Given the description of an element on the screen output the (x, y) to click on. 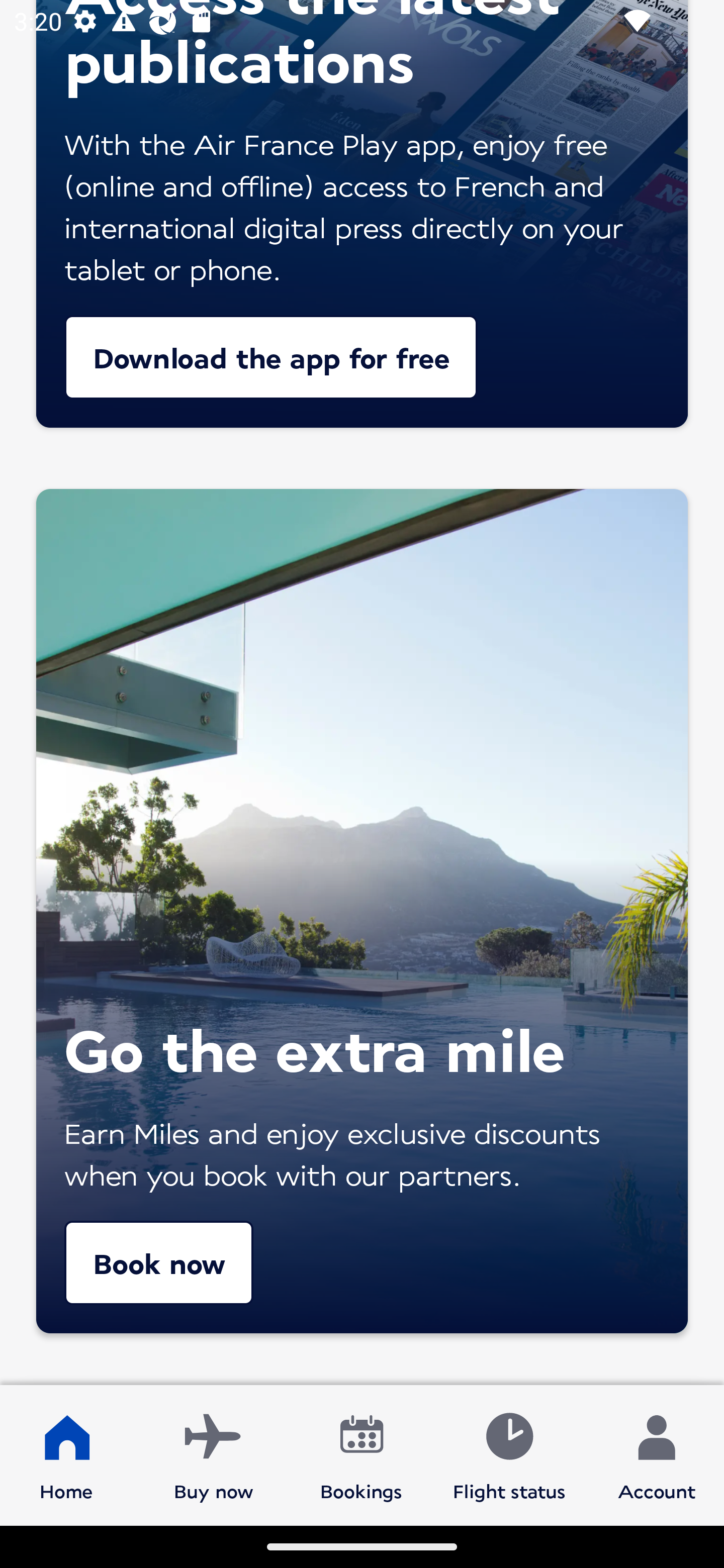
Buy now (213, 1454)
Bookings (361, 1454)
Flight status (509, 1454)
Account (657, 1454)
